Given the description of an element on the screen output the (x, y) to click on. 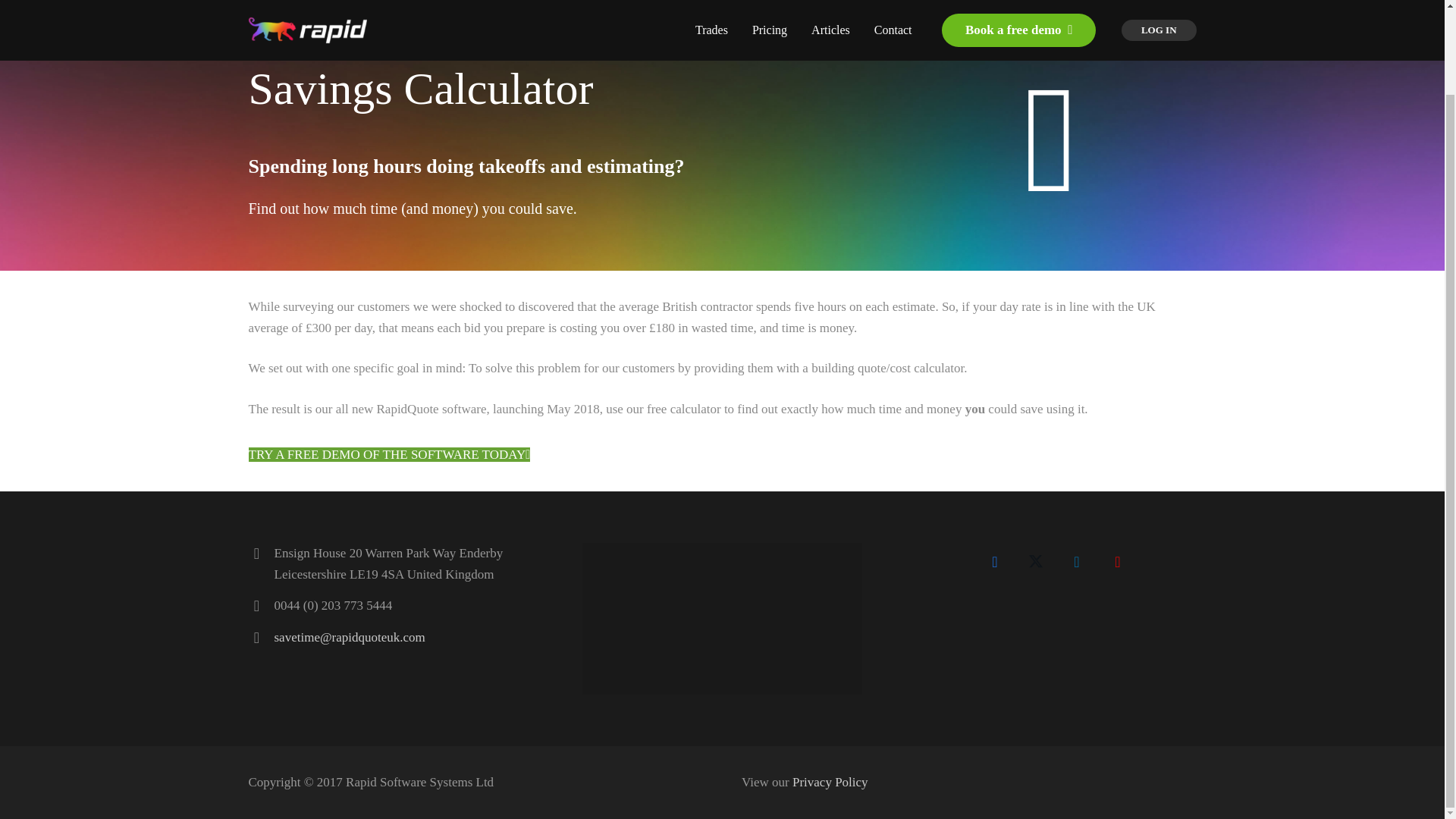
Facebook (994, 561)
LinkedIn (1077, 561)
YouTube (1118, 561)
Privacy Policy (829, 781)
TRY A FREE DEMO OF THE SOFTWARE TODAY (389, 454)
Twitter (1035, 561)
